Given the description of an element on the screen output the (x, y) to click on. 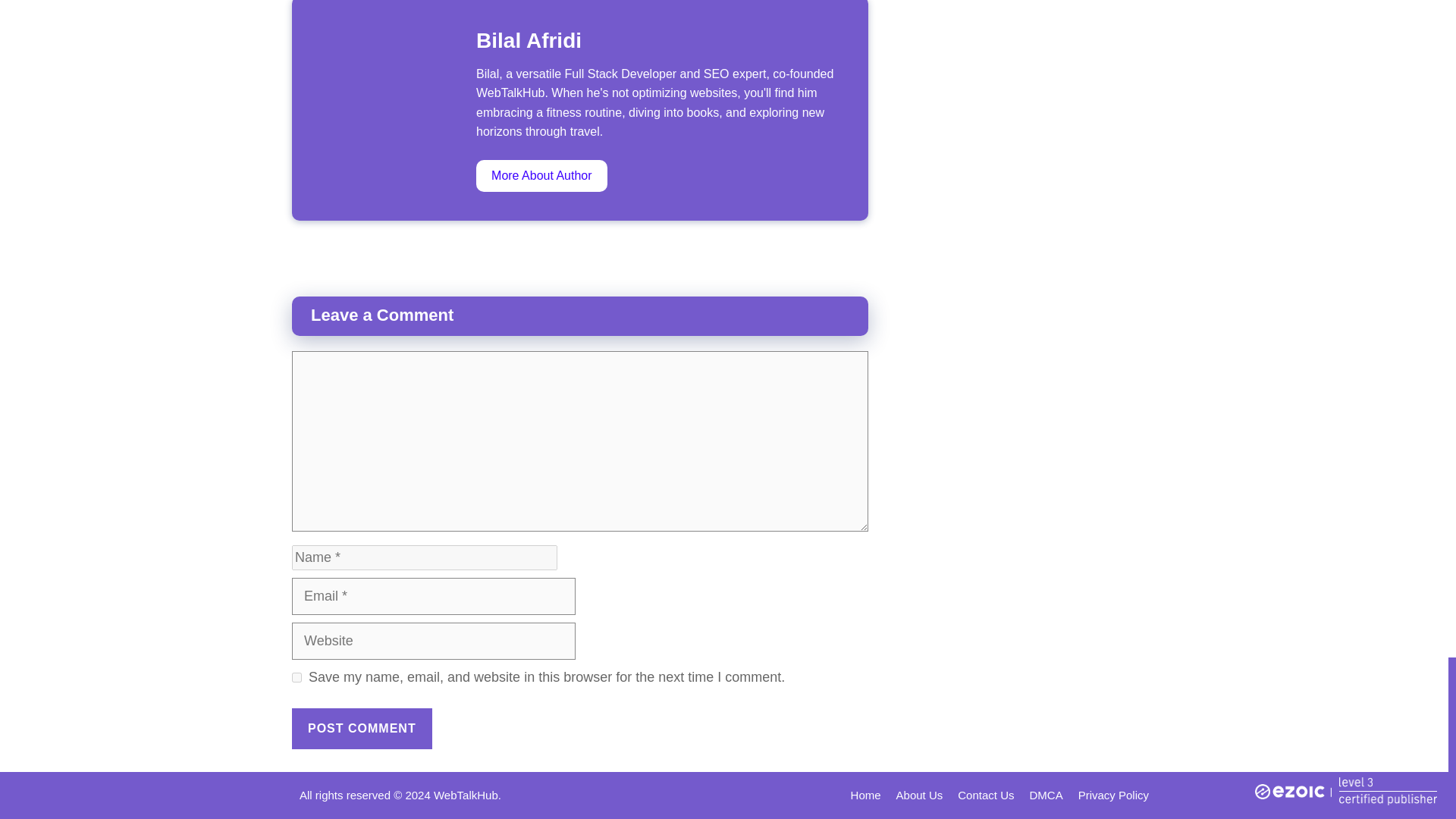
About Us (919, 794)
More About Author (541, 175)
Privacy Policy (1113, 794)
Home (865, 794)
Read more about this author (541, 175)
Contact Us (985, 794)
DMCA (1045, 794)
yes (296, 677)
Post Comment (362, 728)
Post Comment (362, 728)
